Given the description of an element on the screen output the (x, y) to click on. 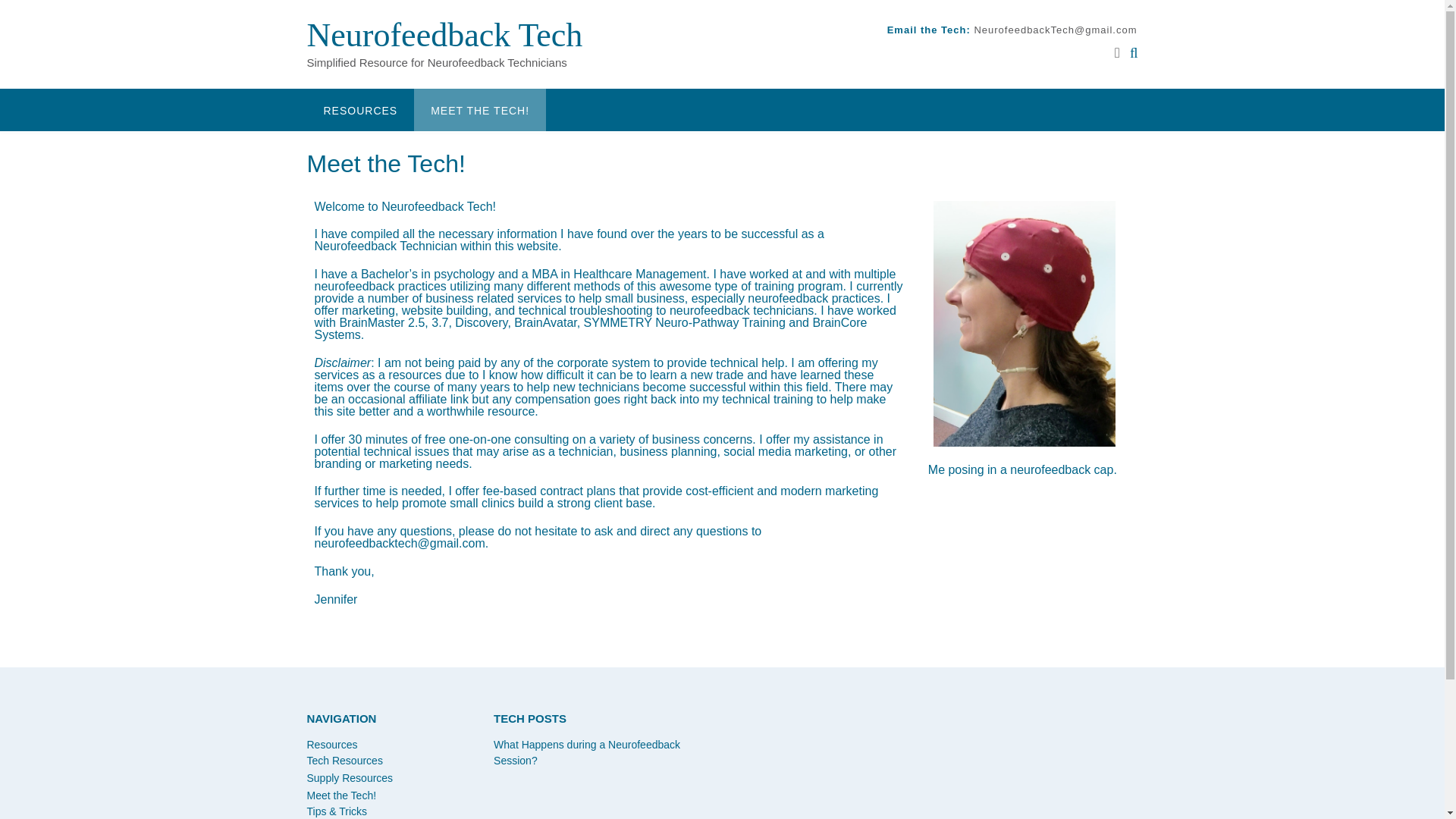
MEET THE TECH! (479, 109)
Tech Resources (343, 760)
Resources (330, 744)
Supply Resources (349, 777)
Neurofeedback Tech (443, 35)
What Happens during a Neurofeedback Session? (586, 752)
RESOURCES (359, 109)
Neurofeedback Tech (443, 35)
Meet the Tech! (340, 795)
